Given the description of an element on the screen output the (x, y) to click on. 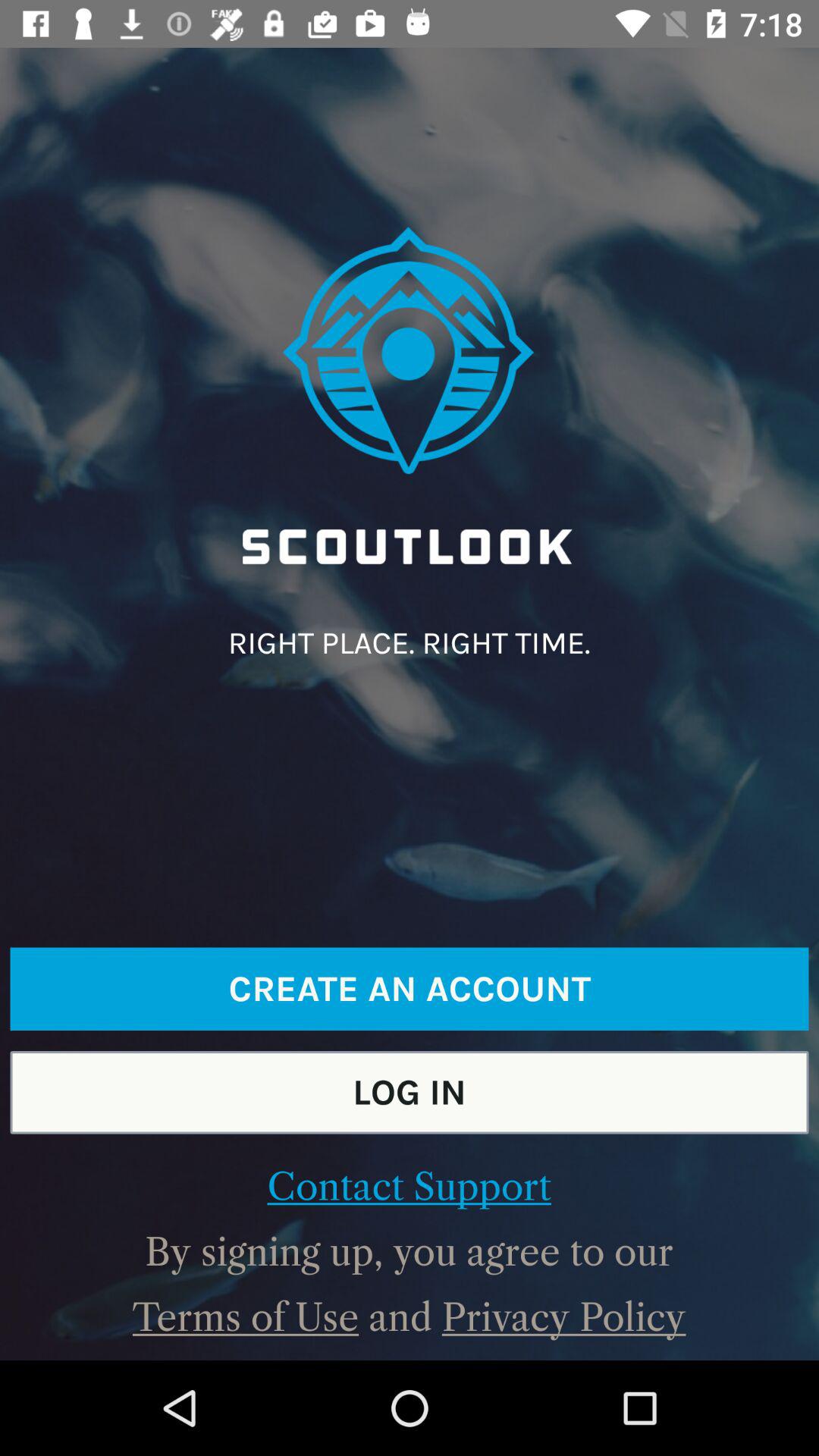
select create an account item (409, 988)
